Given the description of an element on the screen output the (x, y) to click on. 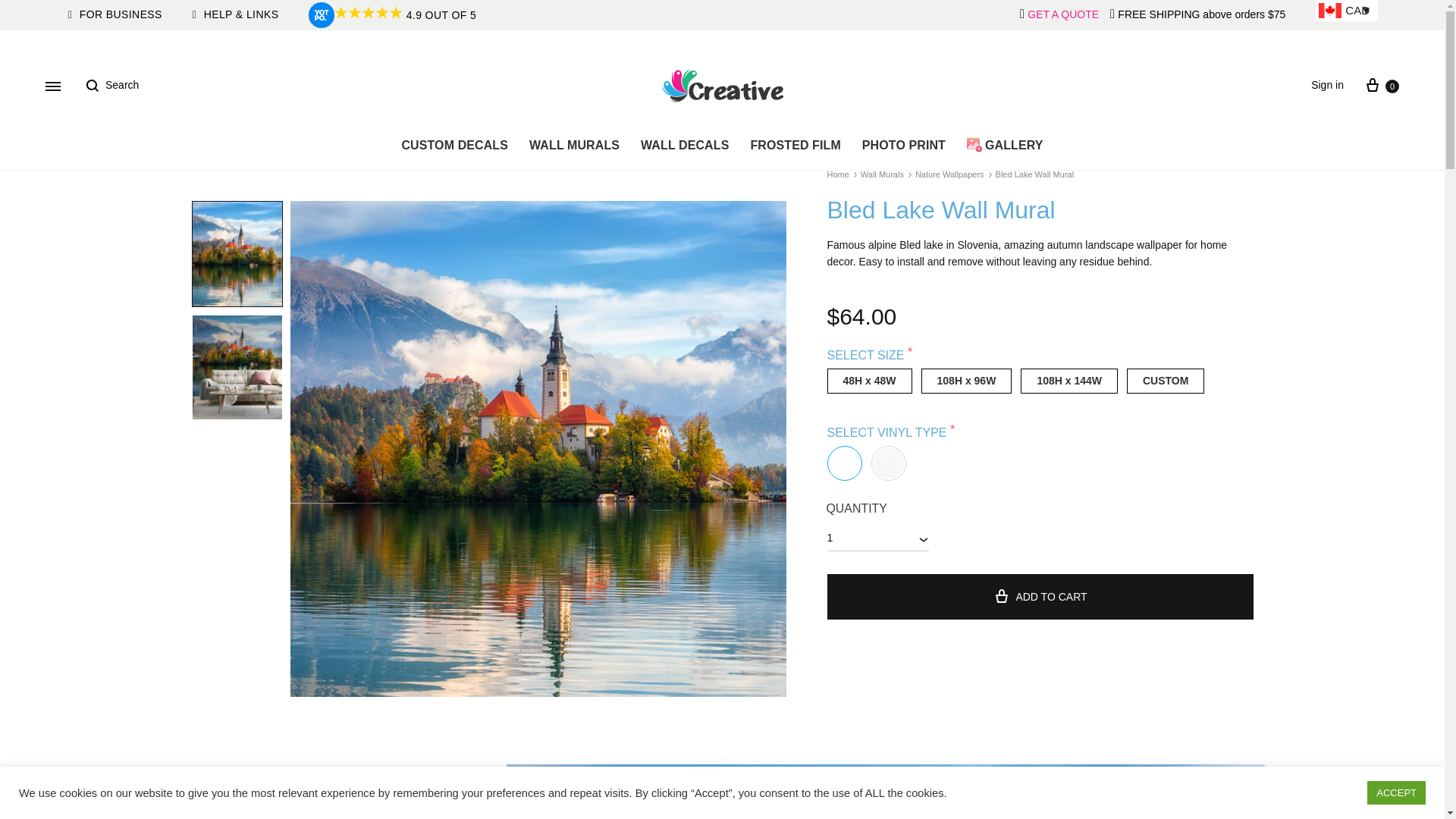
WALL MURALS (574, 145)
CUSTOM DECALS (454, 145)
0 (1380, 85)
FOR BUSINESS (114, 14)
4.9 OUT OF 5 (405, 14)
Sign in (1327, 85)
GET A QUOTE (1063, 14)
